Given the description of an element on the screen output the (x, y) to click on. 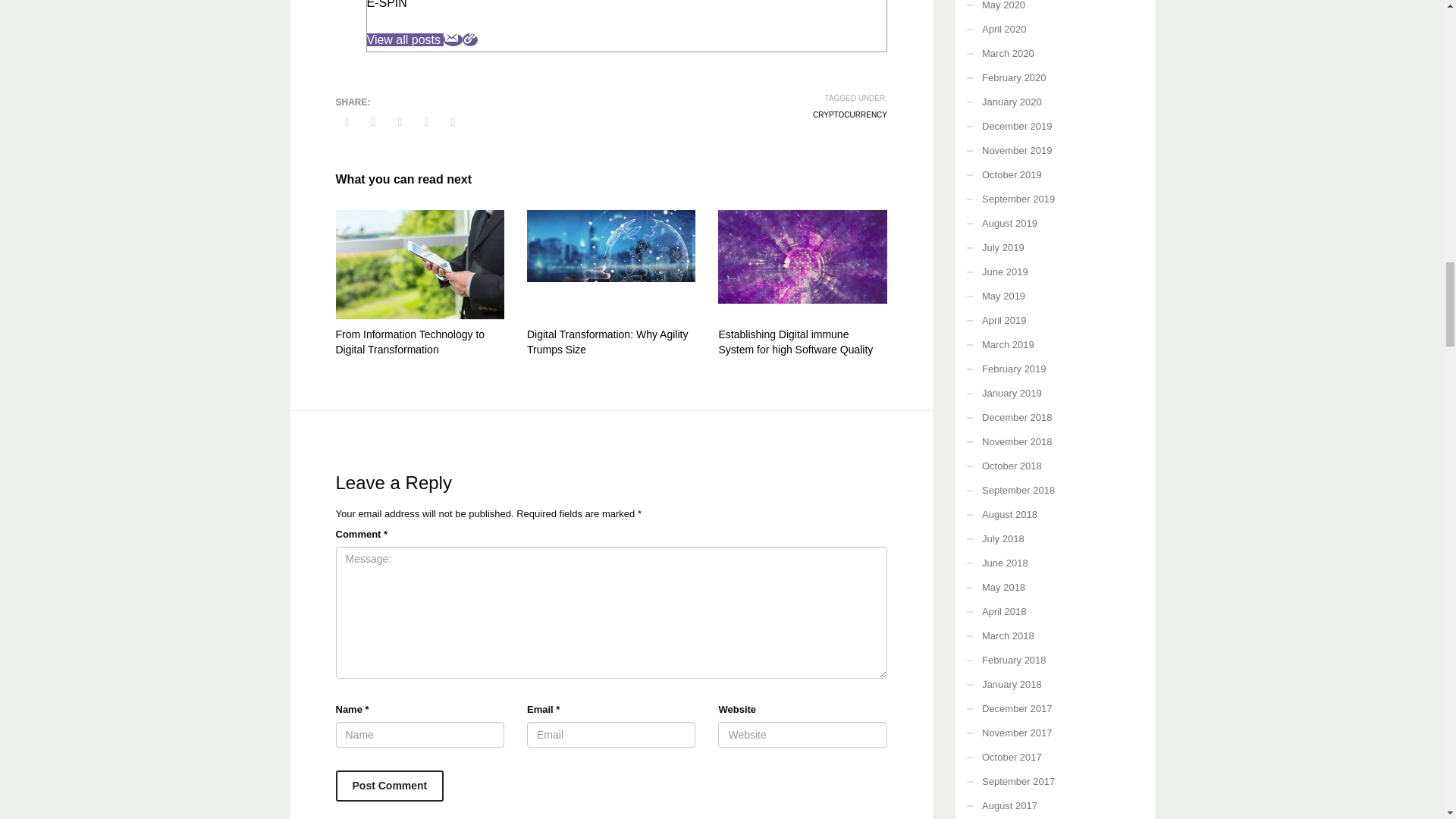
View all posts (405, 39)
E-SPIN (386, 4)
Post Comment (389, 785)
